Given the description of an element on the screen output the (x, y) to click on. 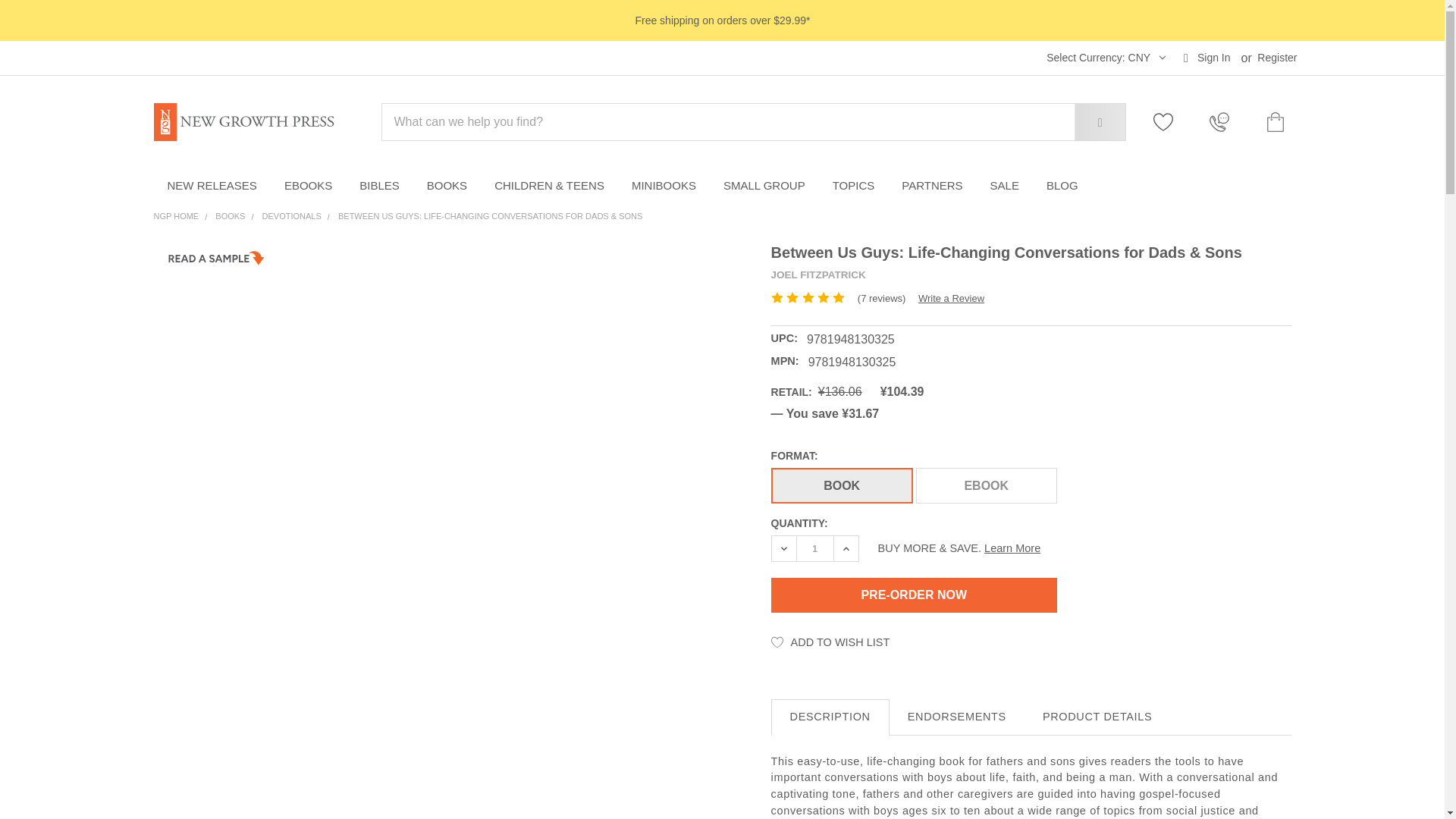
EBOOKS (308, 185)
Sign In (1206, 57)
Register (1277, 57)
Search (1088, 121)
1 (814, 548)
Cart (1272, 121)
NEW RELEASES (210, 185)
Wish Lists (1170, 121)
New Growth Press (242, 121)
